Given the description of an element on the screen output the (x, y) to click on. 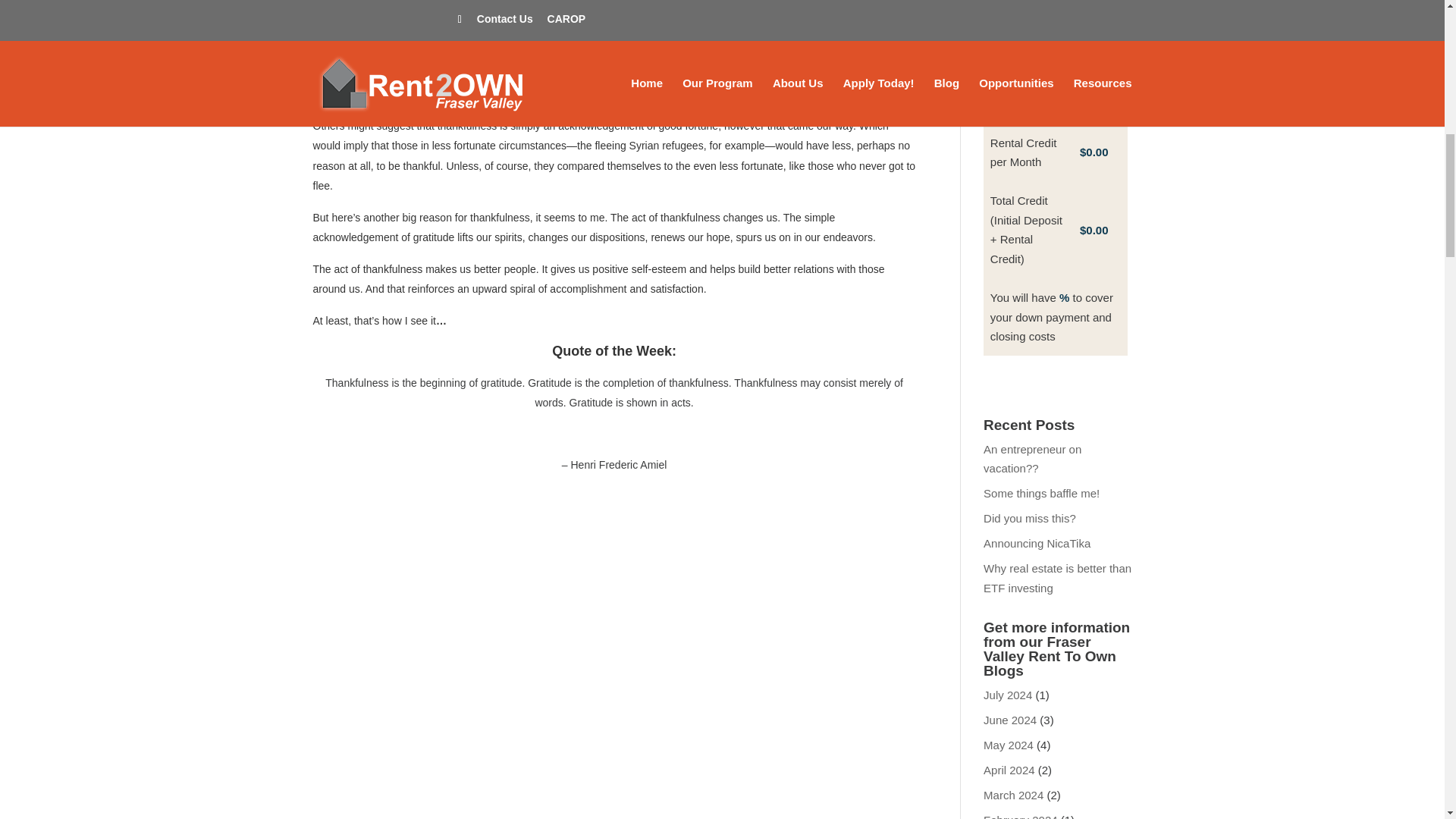
February 2024 (1021, 816)
Some things baffle me! (1041, 492)
Why real estate is better than ETF investing (1057, 577)
July 2024 (1008, 694)
Announcing NicaTika (1037, 543)
An entrepreneur on vacation?? (1032, 459)
April 2024 (1009, 769)
May 2024 (1008, 744)
June 2024 (1010, 719)
March 2024 (1013, 794)
Did you miss this? (1029, 517)
